Given the description of an element on the screen output the (x, y) to click on. 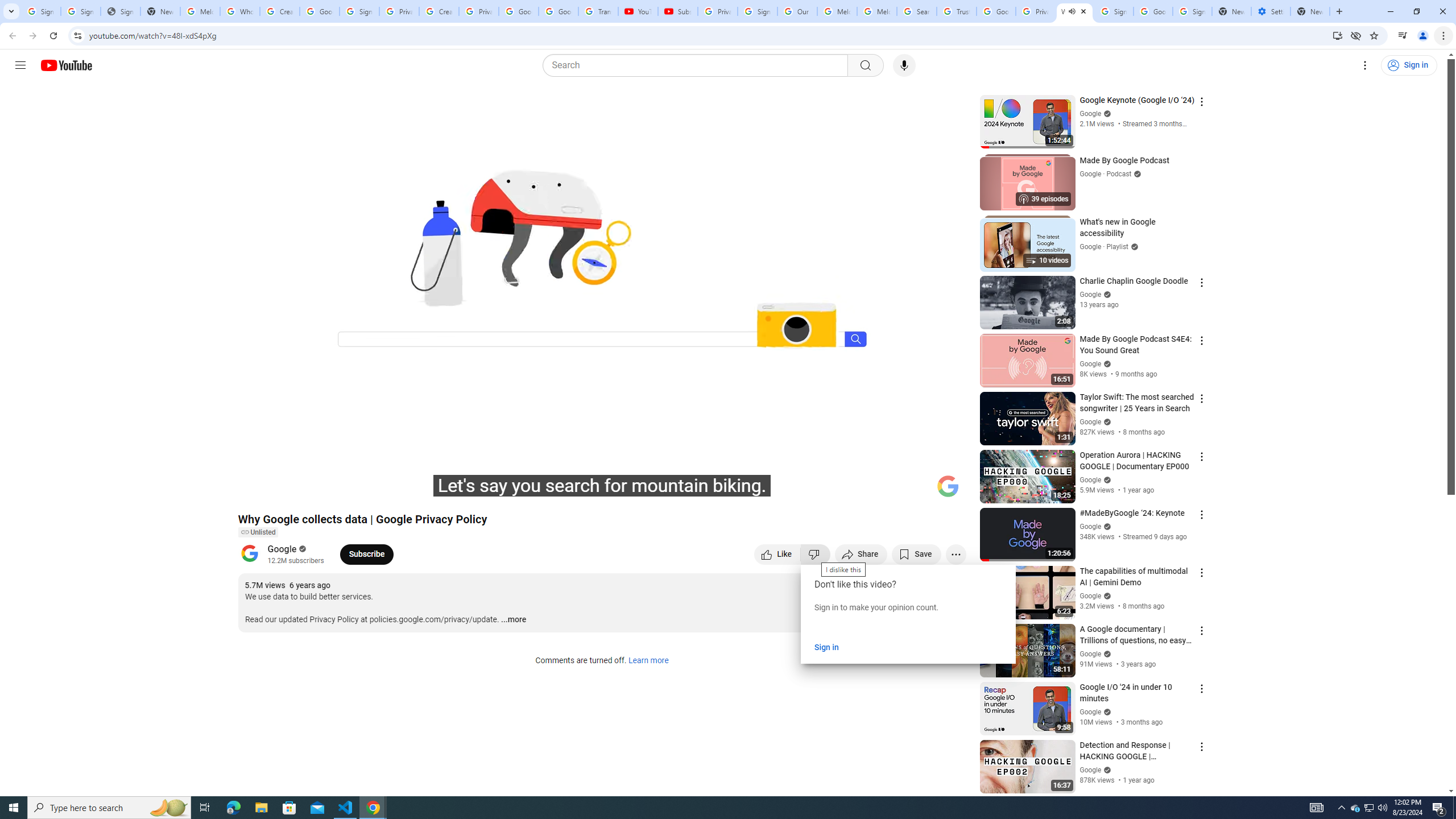
Dislike this video (815, 554)
Unlisted (257, 532)
Sign in - Google Accounts (757, 11)
Subscribe to Google. (366, 554)
Subscriptions - YouTube (677, 11)
Save to playlist (915, 554)
